Given the description of an element on the screen output the (x, y) to click on. 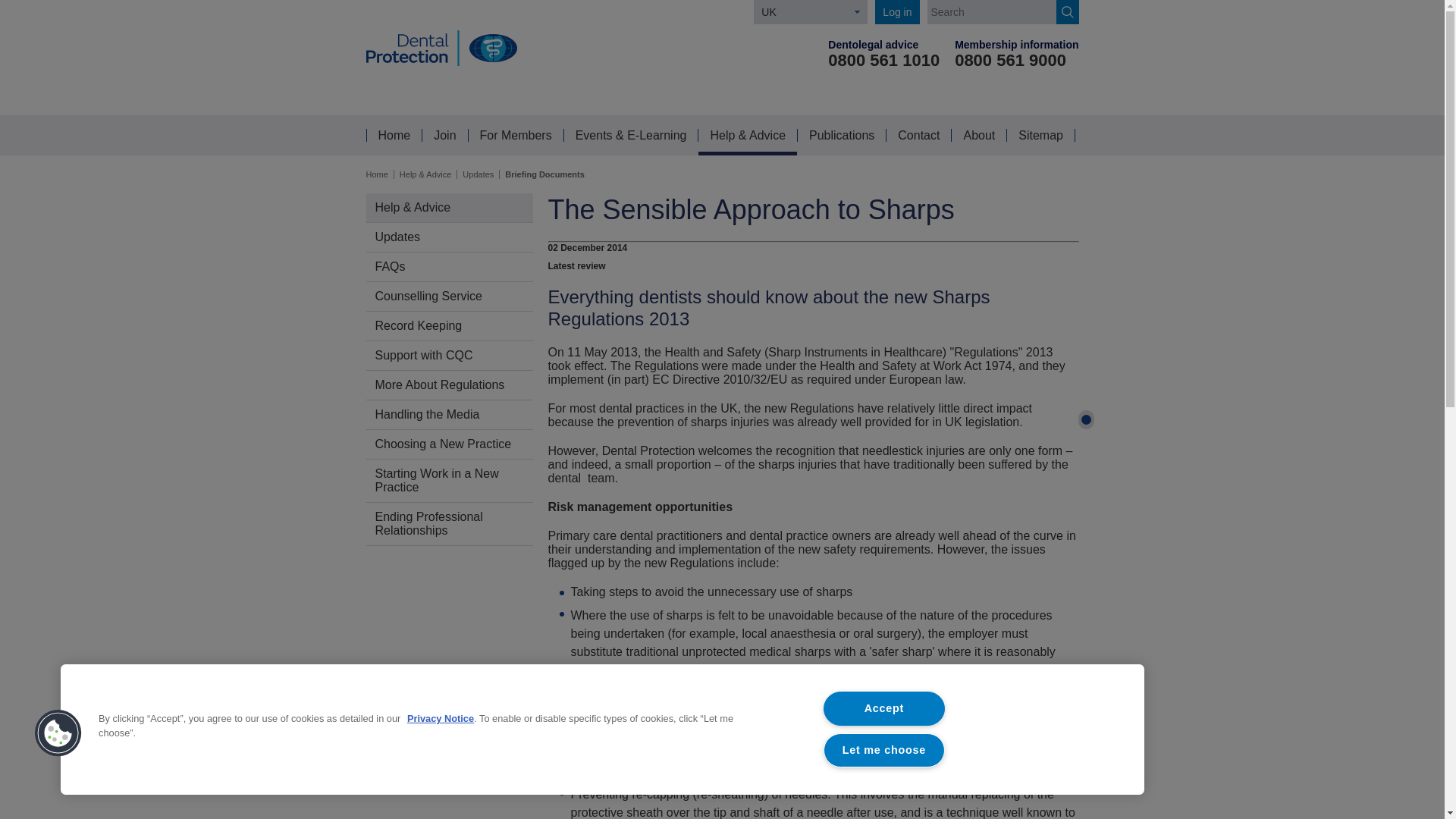
Updates (478, 174)
Briefing Documents (545, 174)
Home (376, 174)
Cookies Button (57, 733)
